Given the description of an element on the screen output the (x, y) to click on. 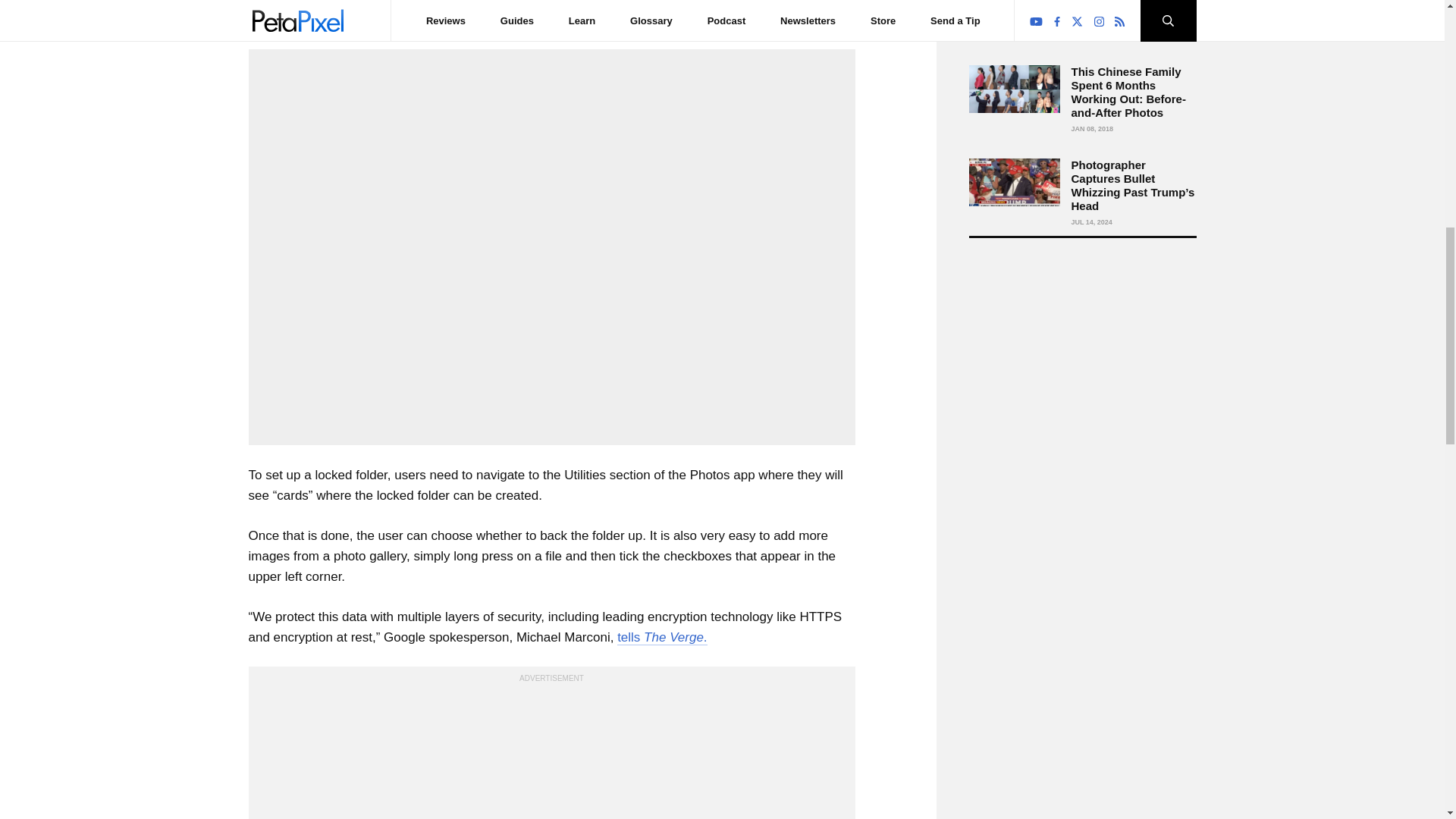
tells The Verge. (661, 637)
began as a Pixel exclusive (494, 19)
